Given the description of an element on the screen output the (x, y) to click on. 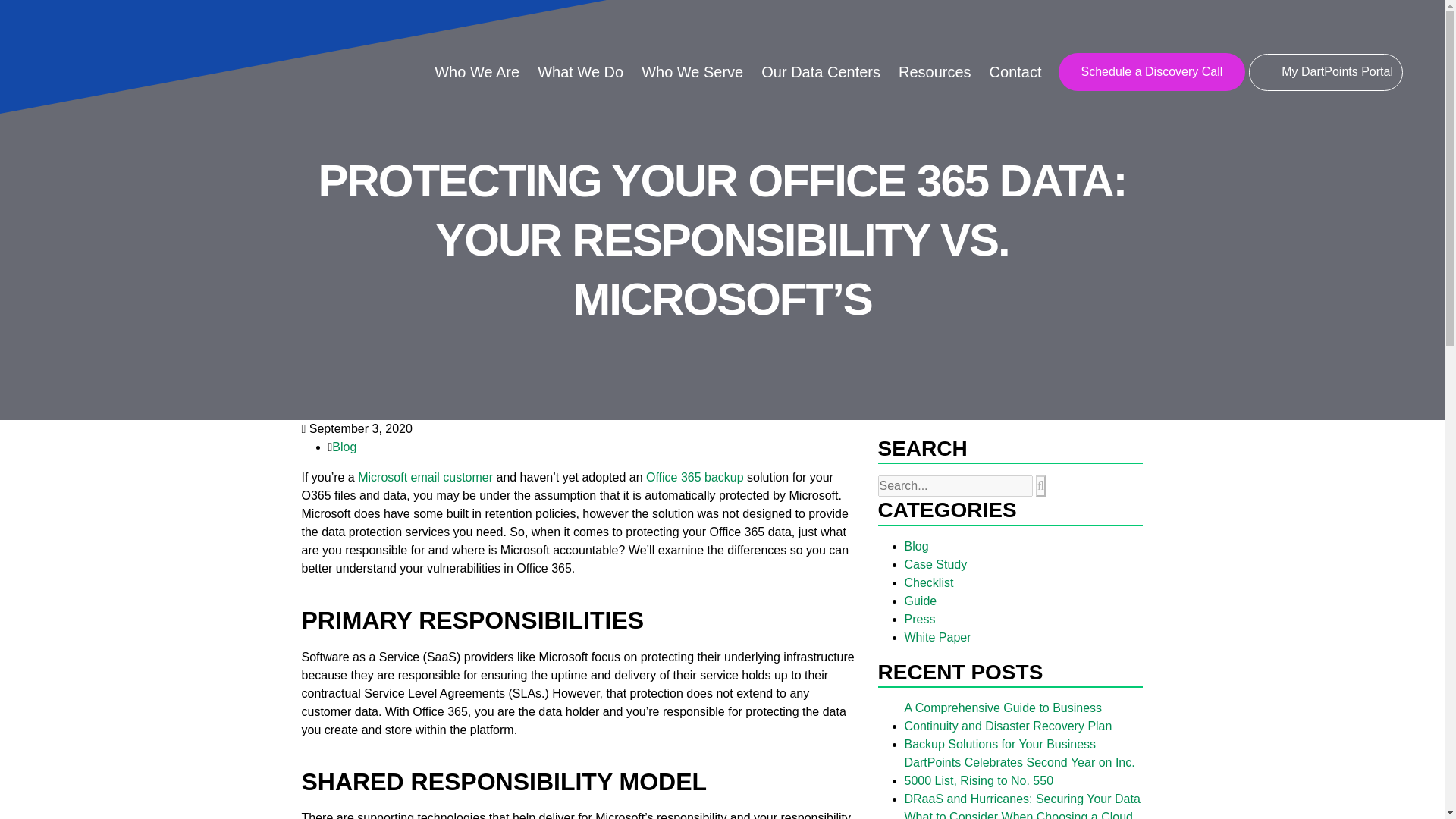
Who We Serve (691, 71)
Who We Are (476, 71)
Who We Are (476, 71)
What We Do (579, 71)
What We Do (579, 71)
